Given the description of an element on the screen output the (x, y) to click on. 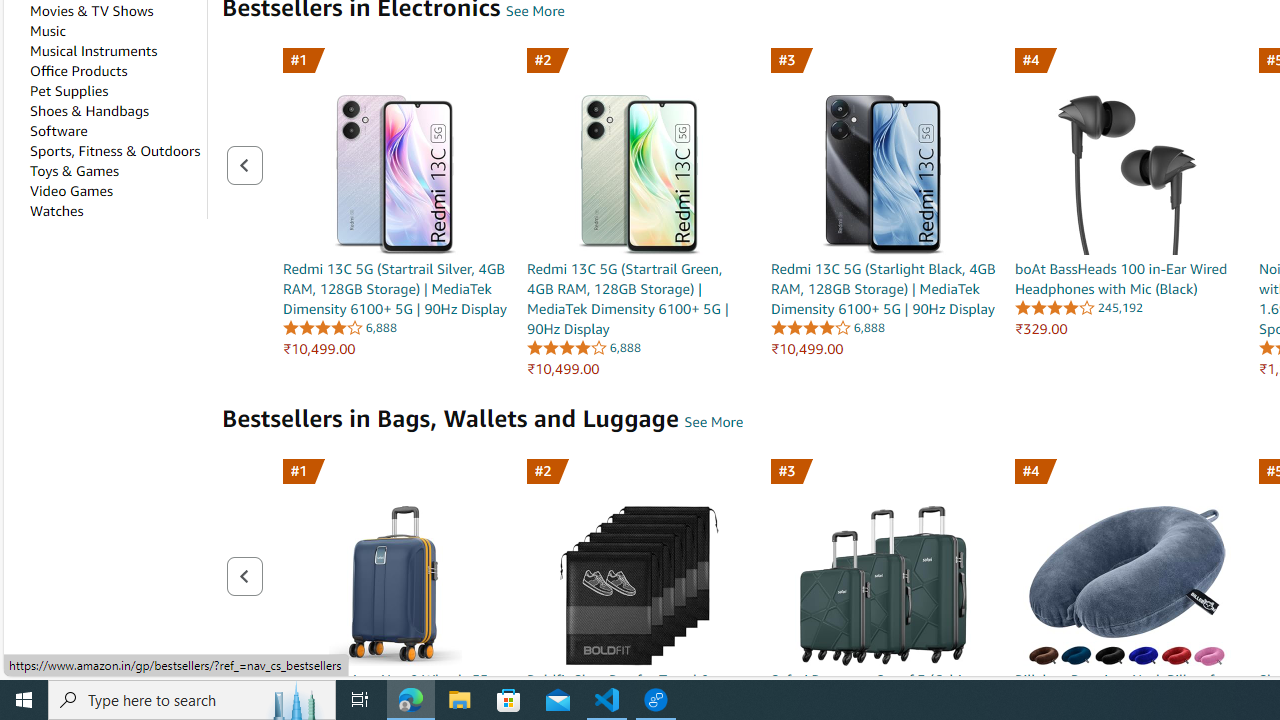
Watches (56, 211)
Software (58, 130)
